Given the description of an element on the screen output the (x, y) to click on. 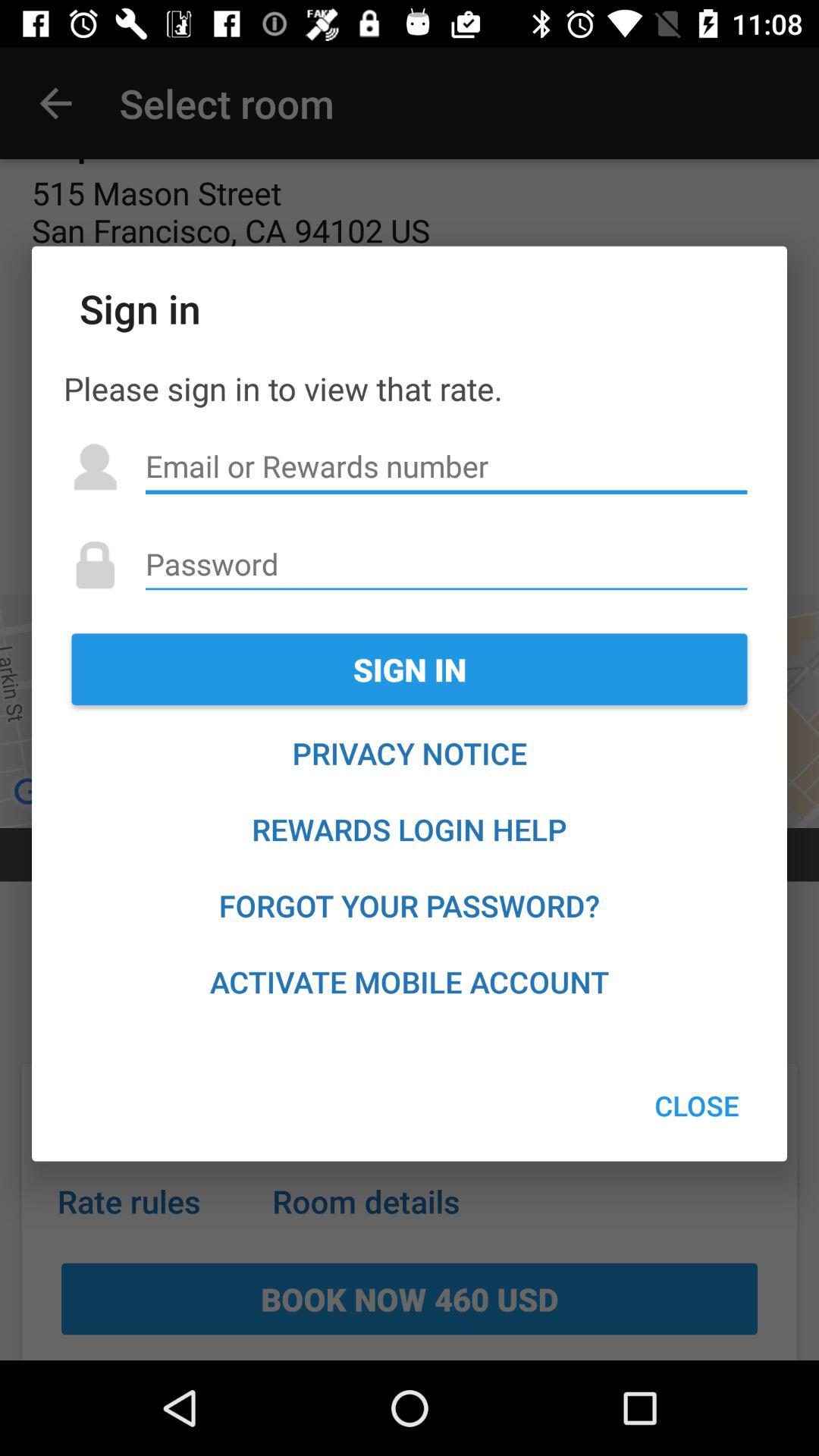
tap icon below activate mobile account icon (696, 1105)
